Given the description of an element on the screen output the (x, y) to click on. 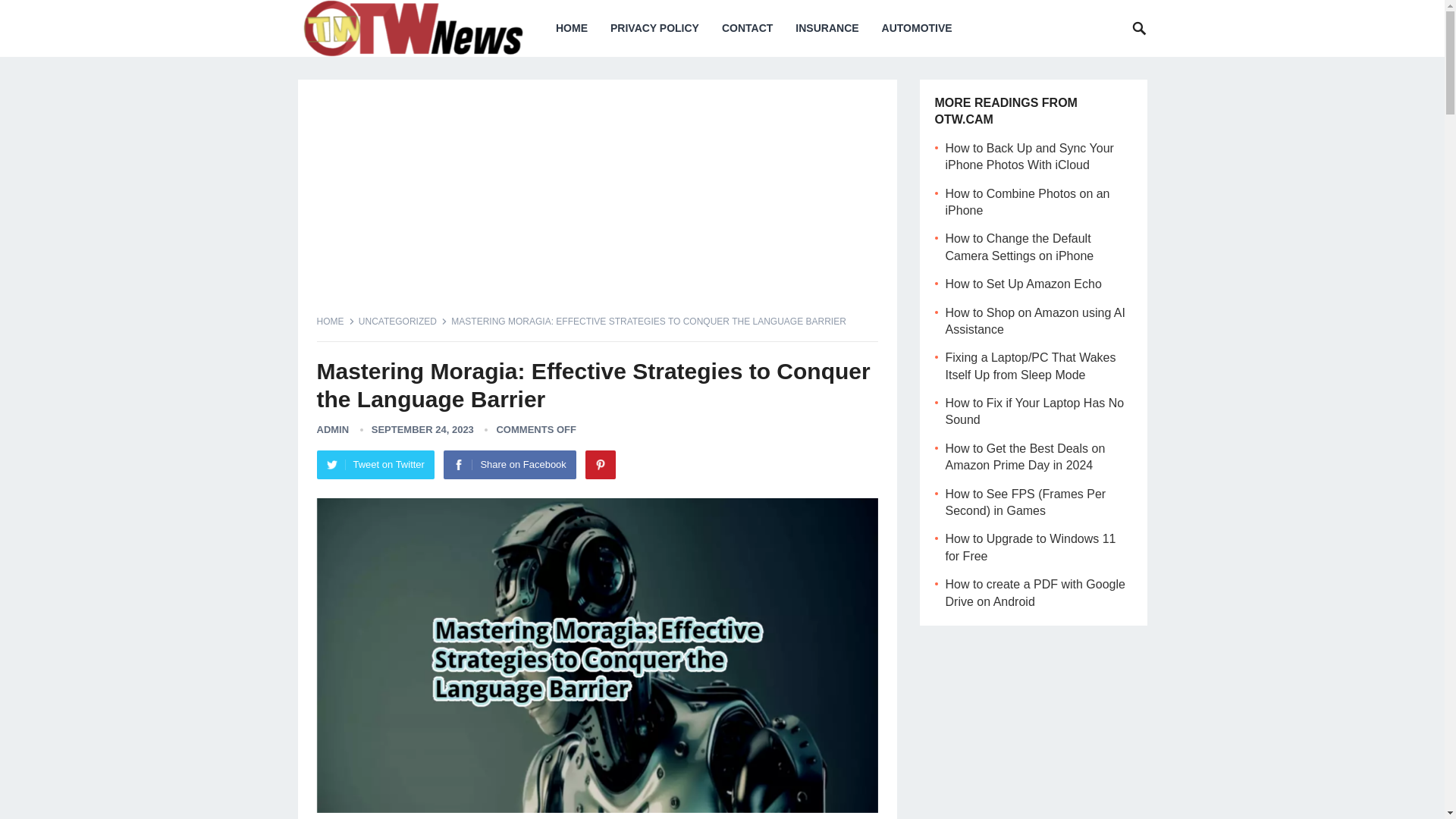
PRIVACY POLICY (654, 28)
Share on Facebook (509, 464)
Pinterest (600, 464)
Tweet on Twitter (375, 464)
INSURANCE (826, 28)
Posts by admin (333, 429)
ADMIN (333, 429)
HOME (571, 28)
AUTOMOTIVE (916, 28)
UNCATEGORIZED (402, 321)
Advertisement (597, 204)
CONTACT (747, 28)
View all posts in Uncategorized (402, 321)
HOME (336, 321)
